Given the description of an element on the screen output the (x, y) to click on. 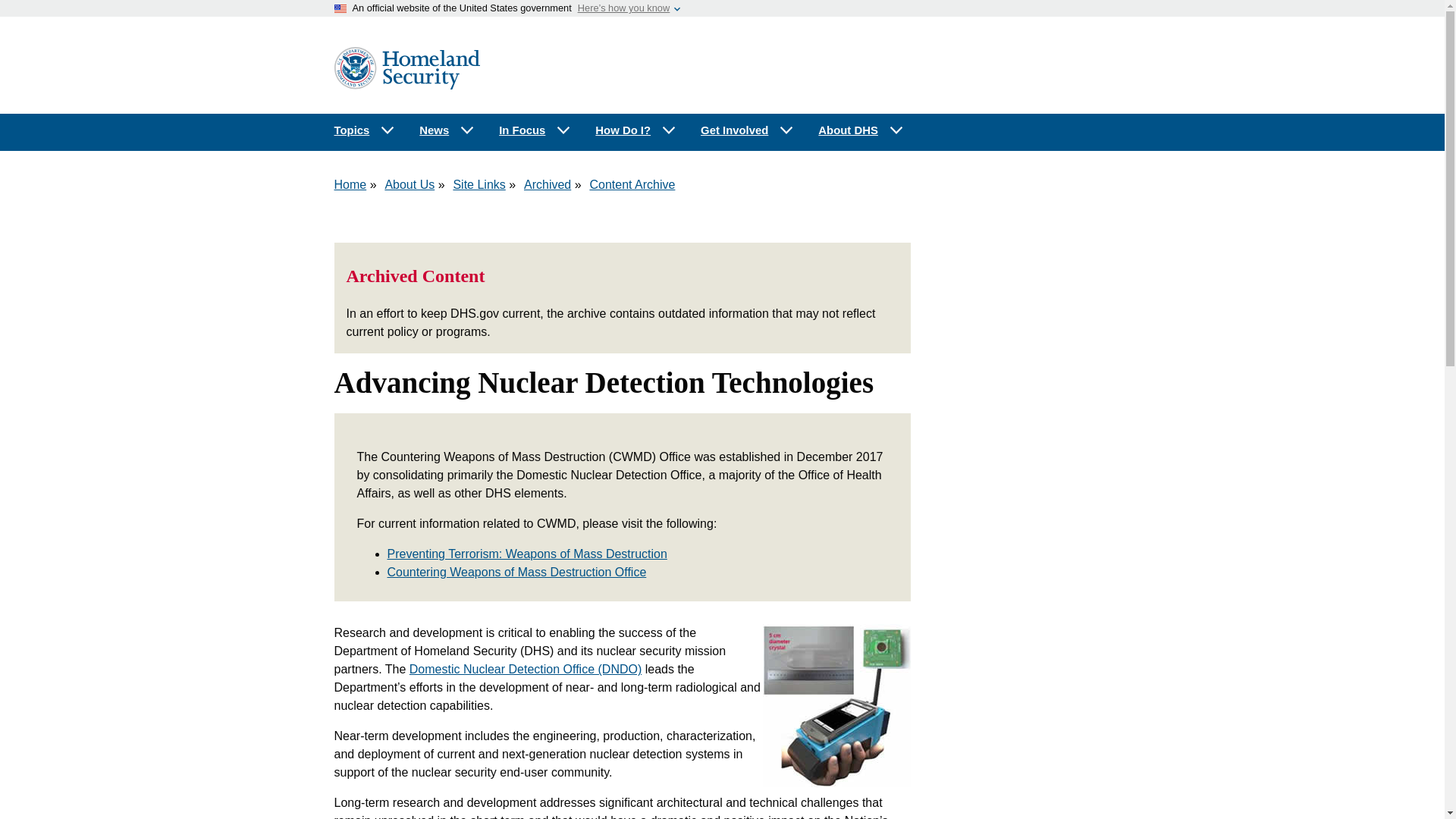
Archived (547, 184)
How Do I? (635, 130)
About Us (408, 184)
About DHS (860, 130)
Content Archive (632, 184)
Countering Weapons of Mass Destruction Office (516, 571)
Site Links (478, 184)
In Focus (534, 130)
Preventing Terrorism: Weapons of Mass Destruction (526, 553)
News (446, 130)
Topics (364, 130)
Home (349, 184)
Get Involved (747, 130)
